Given the description of an element on the screen output the (x, y) to click on. 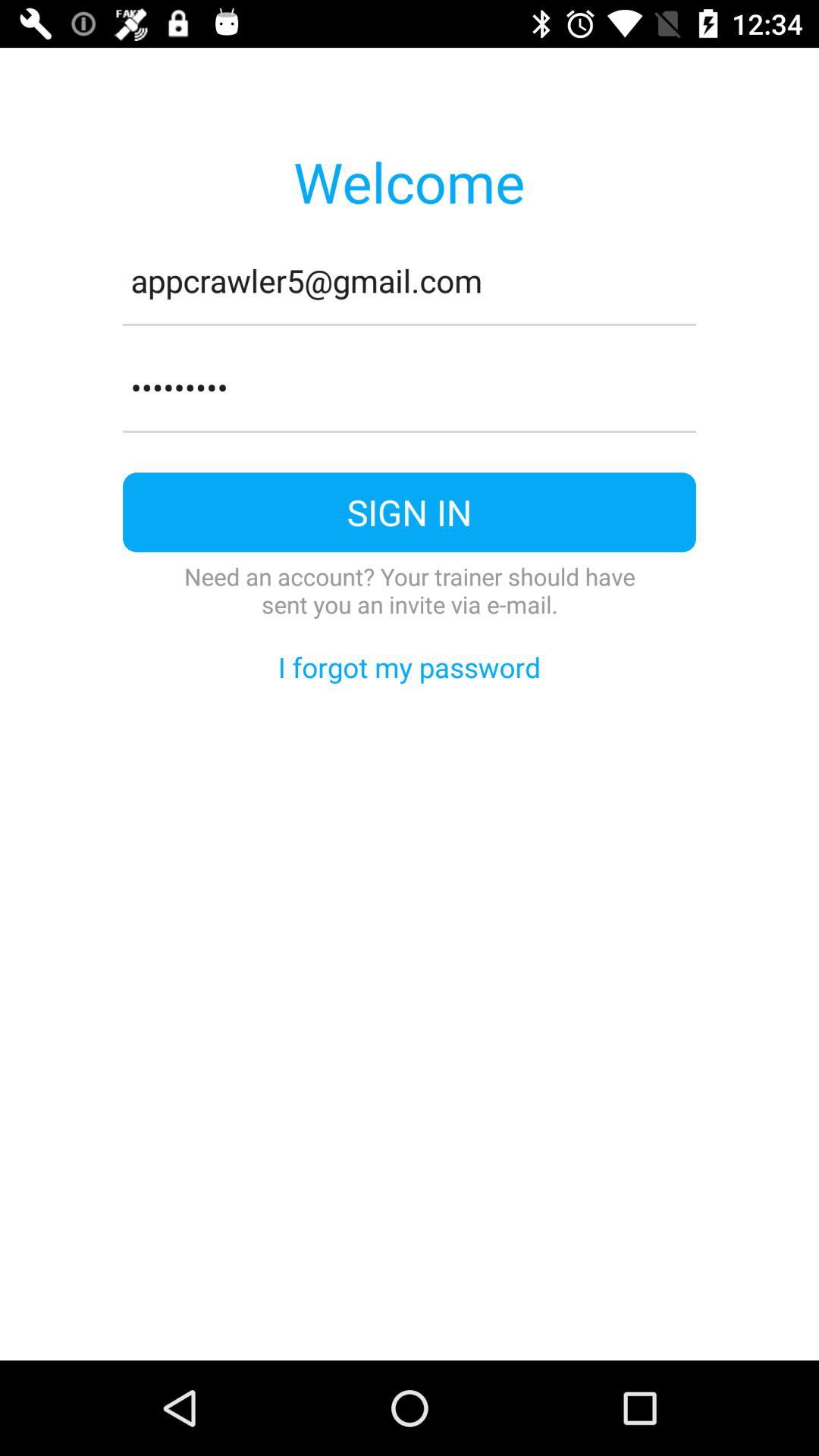
jump to the need an account (409, 590)
